Given the description of an element on the screen output the (x, y) to click on. 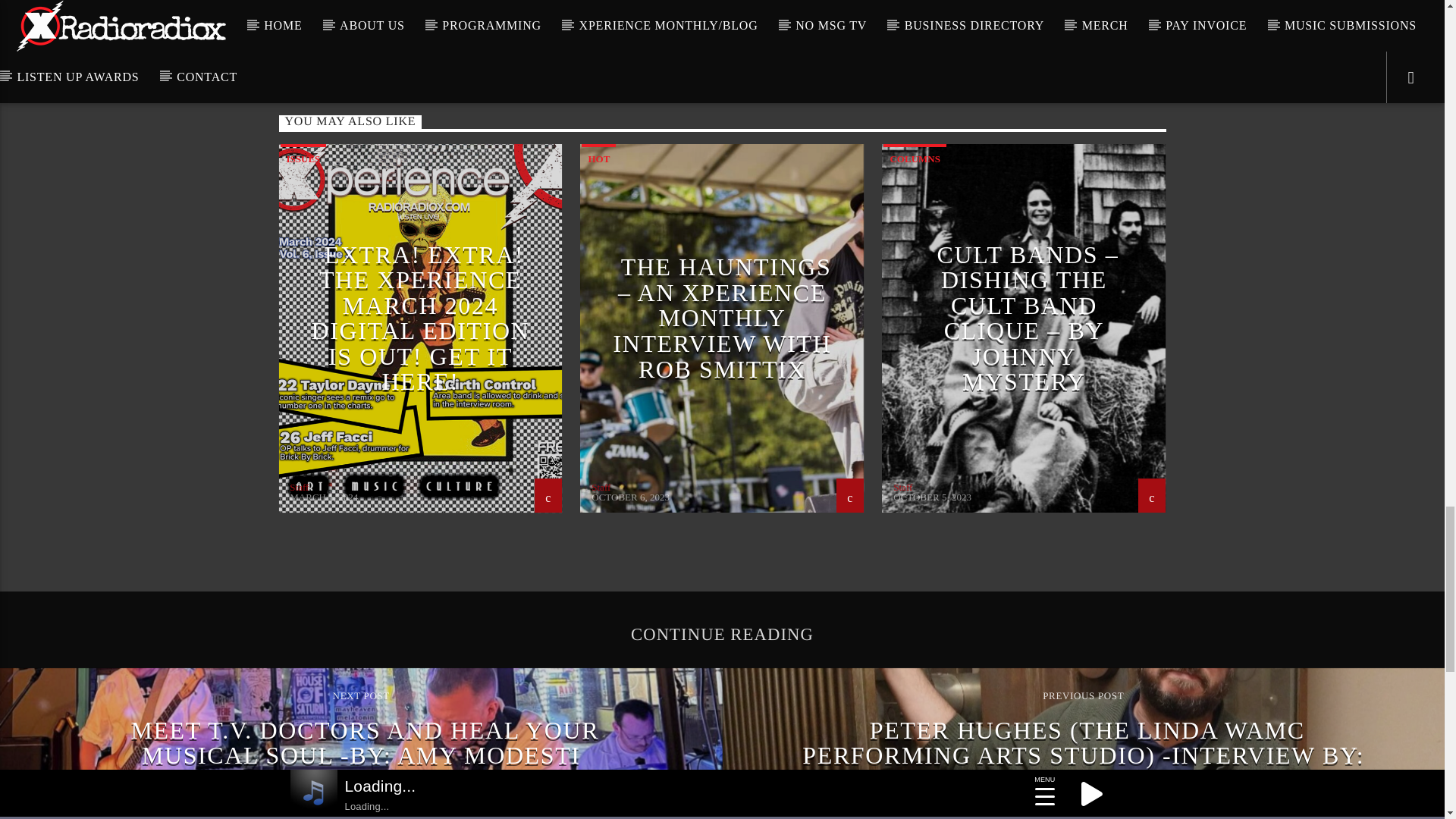
Posts by Staff (298, 487)
Posts by Staff (902, 487)
Posts by Staff (600, 487)
